Given the description of an element on the screen output the (x, y) to click on. 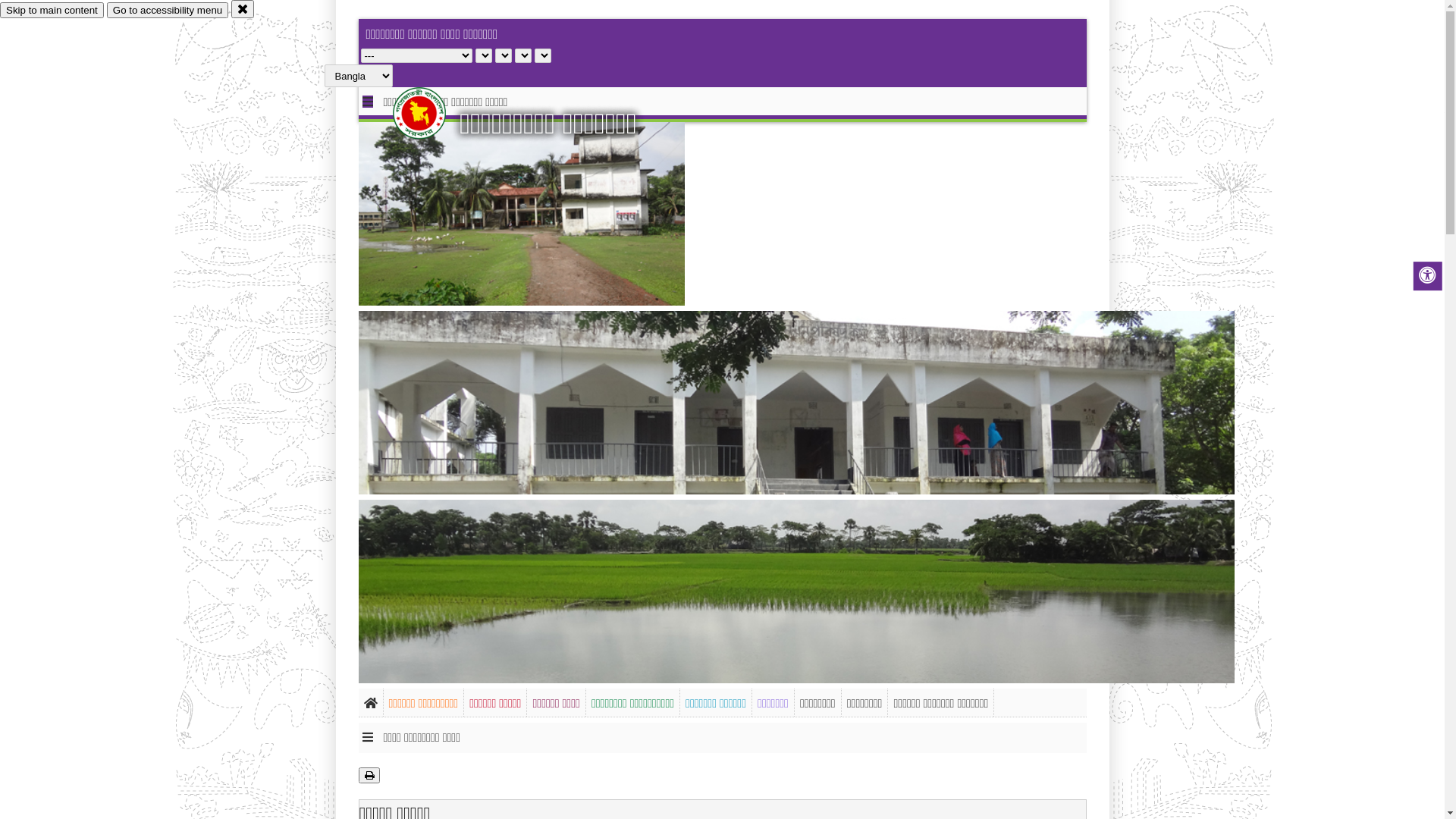
close Element type: hover (242, 9)

                
             Element type: hover (431, 112)
Go to accessibility menu Element type: text (167, 10)
Skip to main content Element type: text (51, 10)
